Given the description of an element on the screen output the (x, y) to click on. 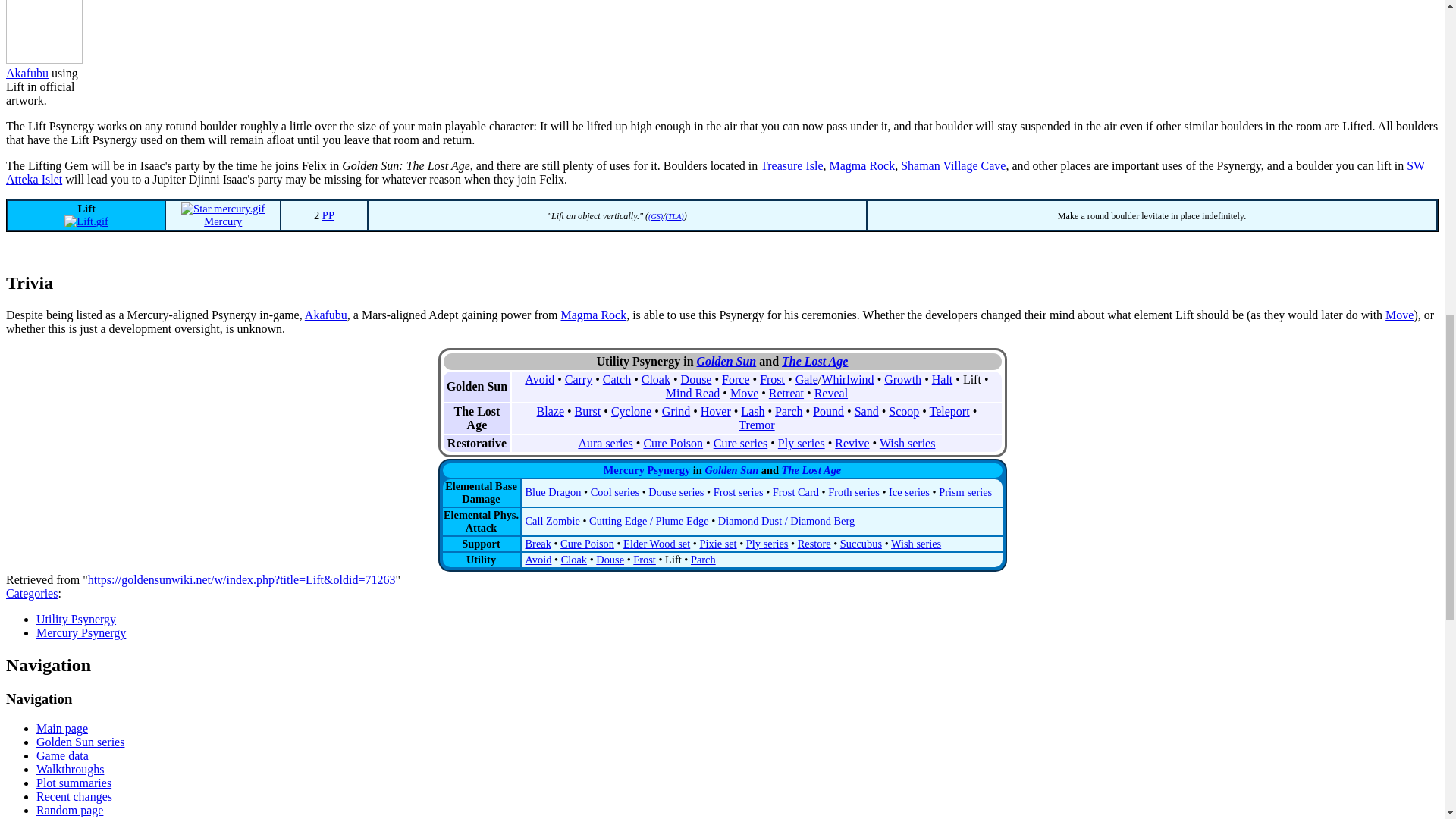
PP (327, 215)
Magma Rock (593, 314)
The Lost Age (814, 360)
Akafubu (325, 314)
Treasure Isle (792, 164)
Magma Rock (862, 164)
Move (1399, 314)
Shaman Village Cave (953, 164)
Carry (578, 379)
SW Atteka Islet (715, 171)
Avoid (539, 379)
Mercury (222, 221)
Golden Sun (727, 360)
Akafubu (26, 72)
